Given the description of an element on the screen output the (x, y) to click on. 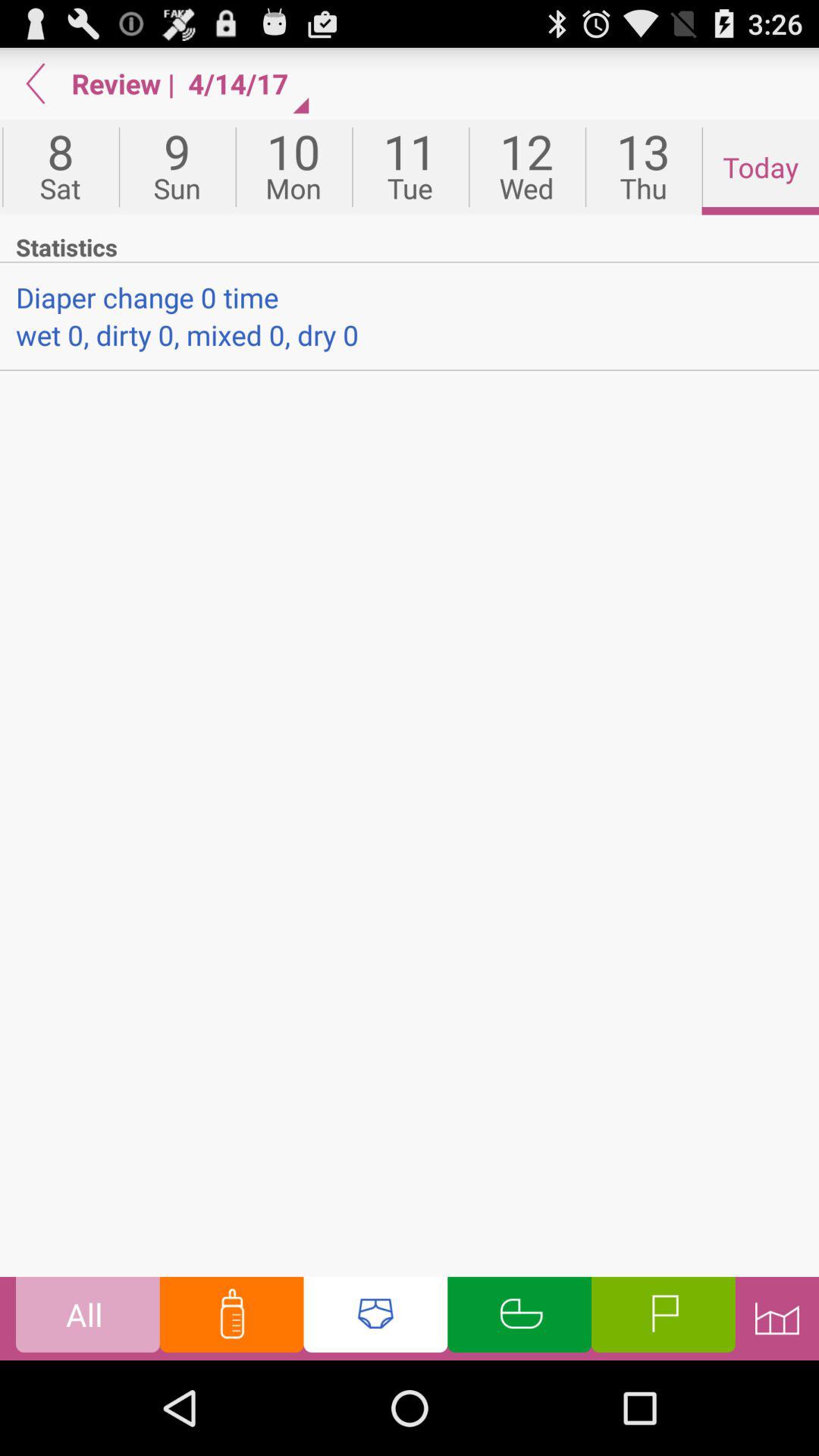
flip until diaper change 0 app (409, 297)
